Given the description of an element on the screen output the (x, y) to click on. 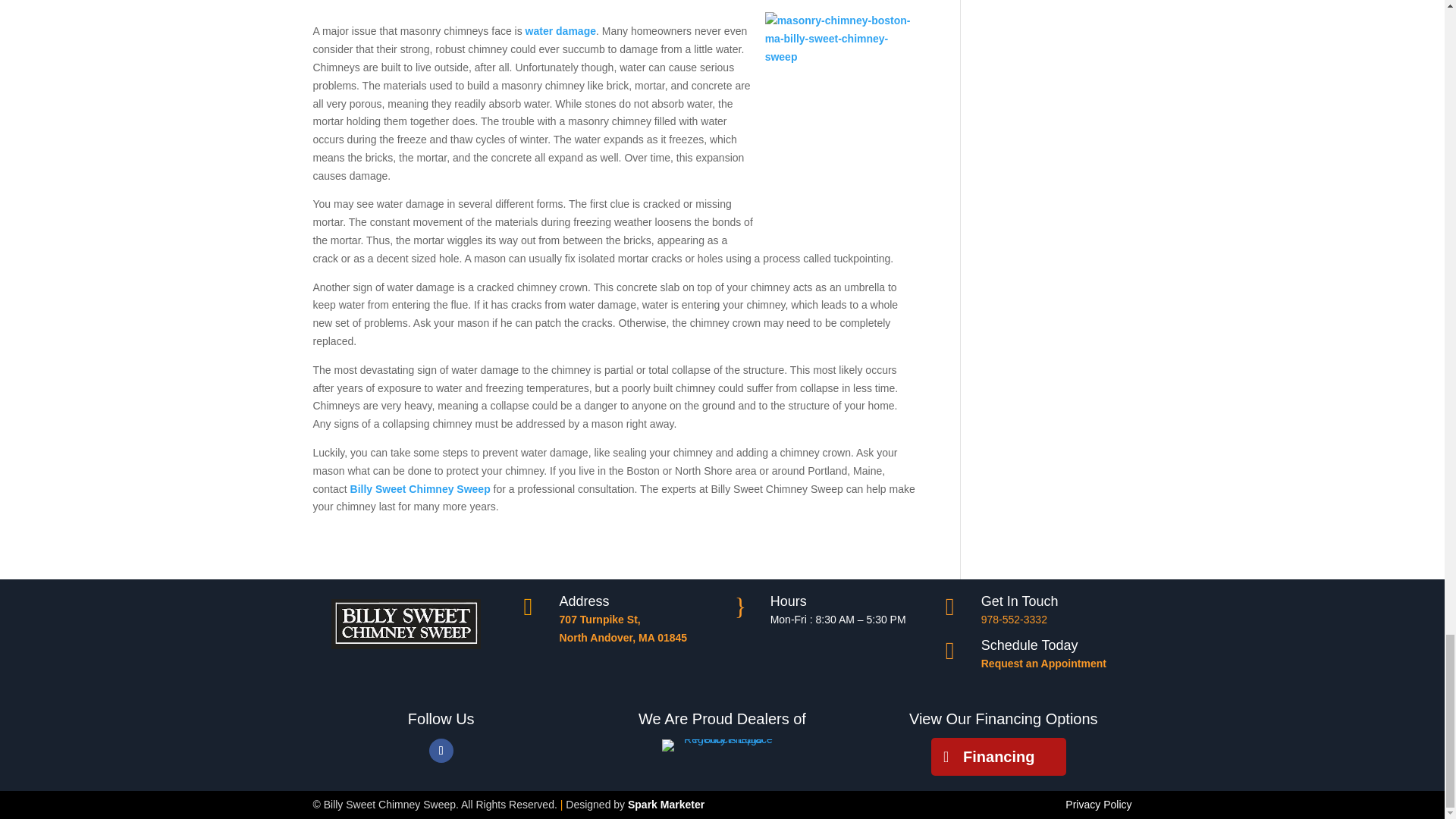
Follow on Facebook (440, 750)
The systems and people to help local service businesses win. (665, 804)
Stock Photo- Regency Fireplace Products- Billy Sweet Chimney (722, 745)
